Given the description of an element on the screen output the (x, y) to click on. 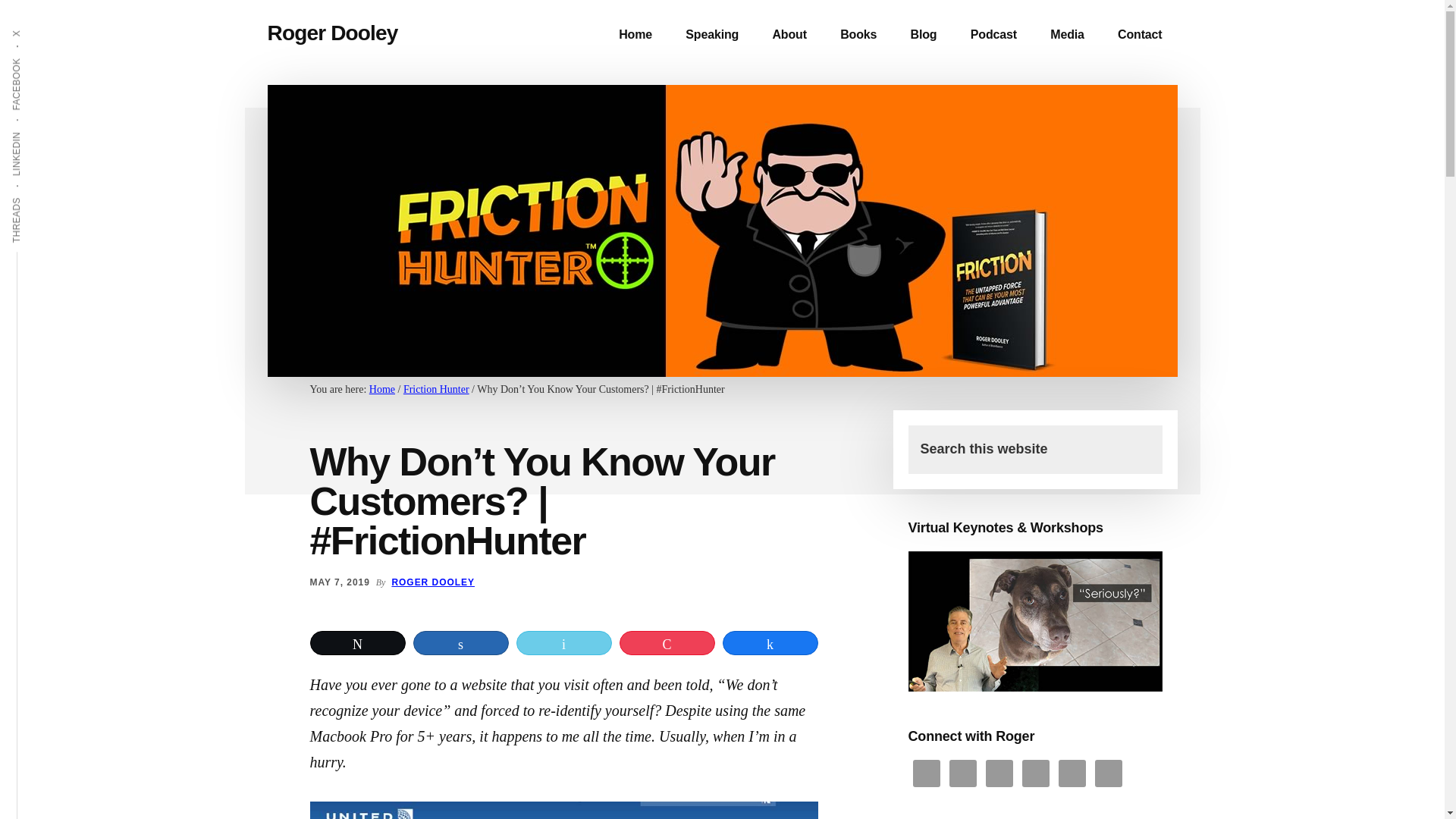
Books (858, 34)
Media (1067, 34)
THREADS (40, 195)
Podcast (993, 34)
LINKEDIN (39, 130)
X (20, 28)
Contact (1139, 34)
Home (381, 389)
Blog (923, 34)
Podcast (993, 34)
Roger Dooley (331, 33)
Friction Hunter (435, 389)
